Given the description of an element on the screen output the (x, y) to click on. 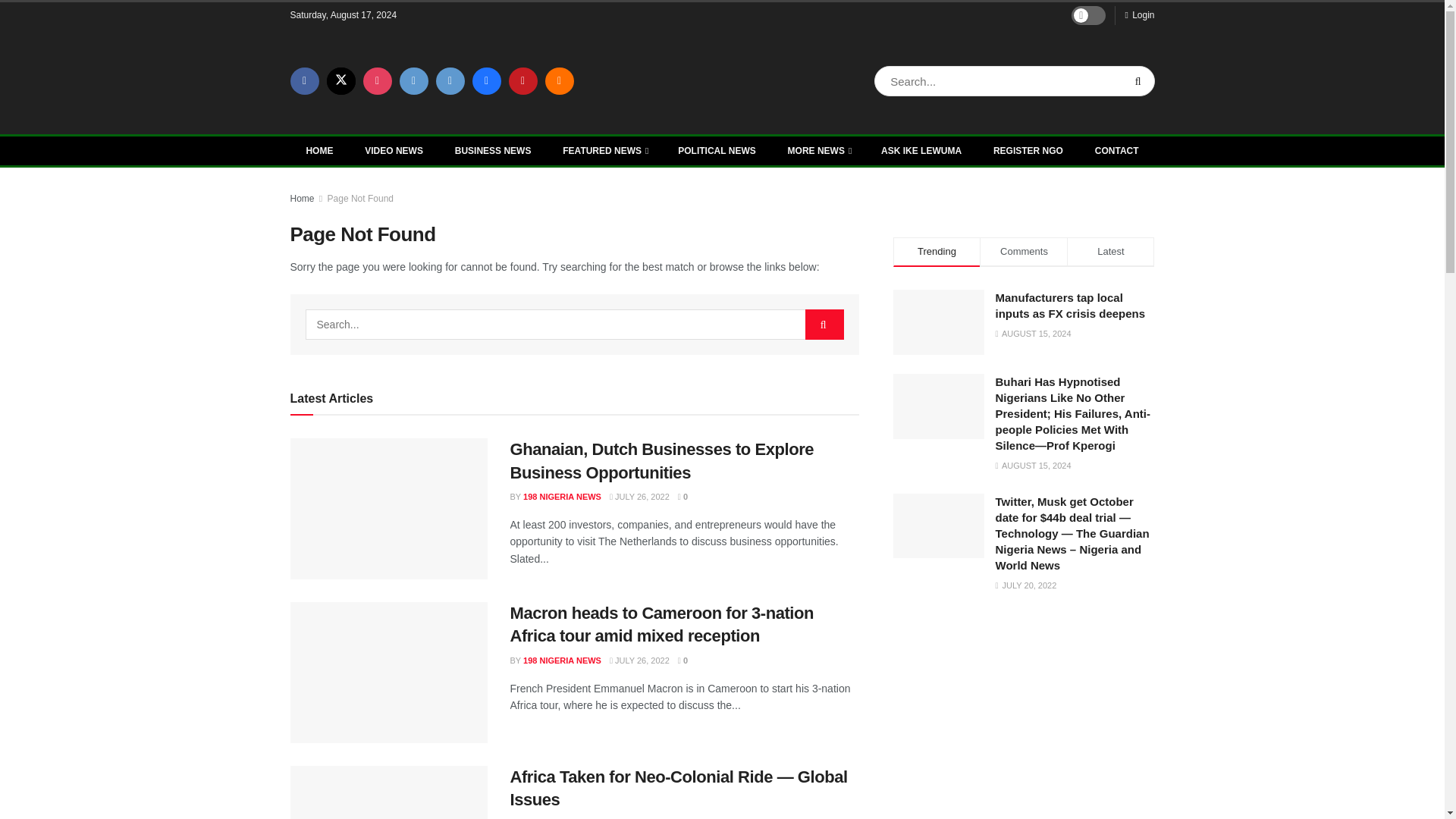
FEATURED NEWS (604, 150)
MORE NEWS (818, 150)
Login (1139, 14)
VIDEO NEWS (394, 150)
POLITICAL NEWS (716, 150)
BUSINESS NEWS (493, 150)
HOME (319, 150)
